Given the description of an element on the screen output the (x, y) to click on. 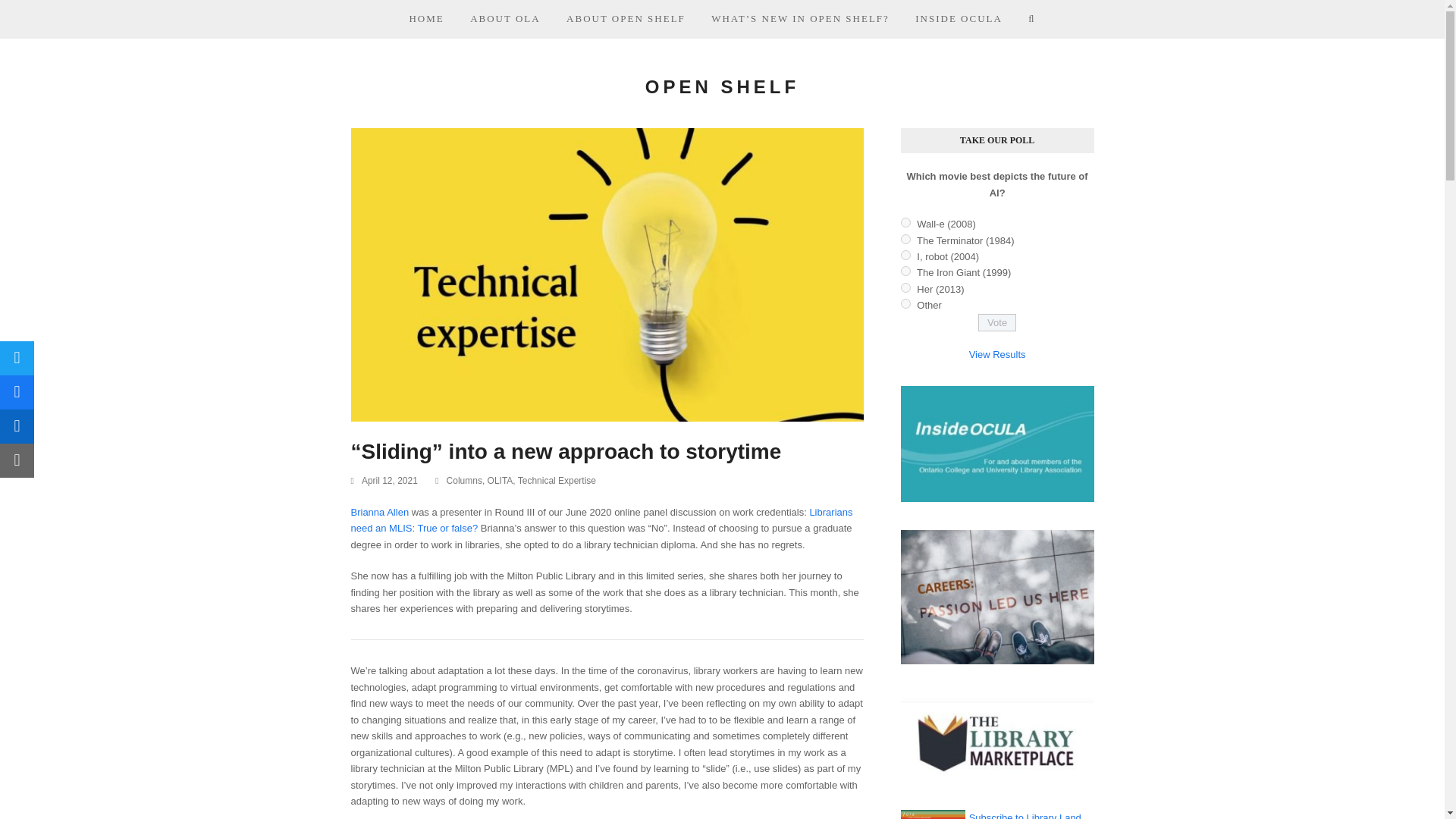
INSIDE OCULA (958, 18)
ABOUT OPEN SHELF (625, 18)
ABOUT OLA (504, 18)
256 (906, 287)
252 (906, 222)
253 (906, 239)
Columns (463, 480)
OPEN SHELF (722, 86)
   Vote    (997, 322)
View Results Of This Poll (997, 354)
HOME (426, 18)
257 (906, 303)
255 (906, 271)
254 (906, 255)
